Given the description of an element on the screen output the (x, y) to click on. 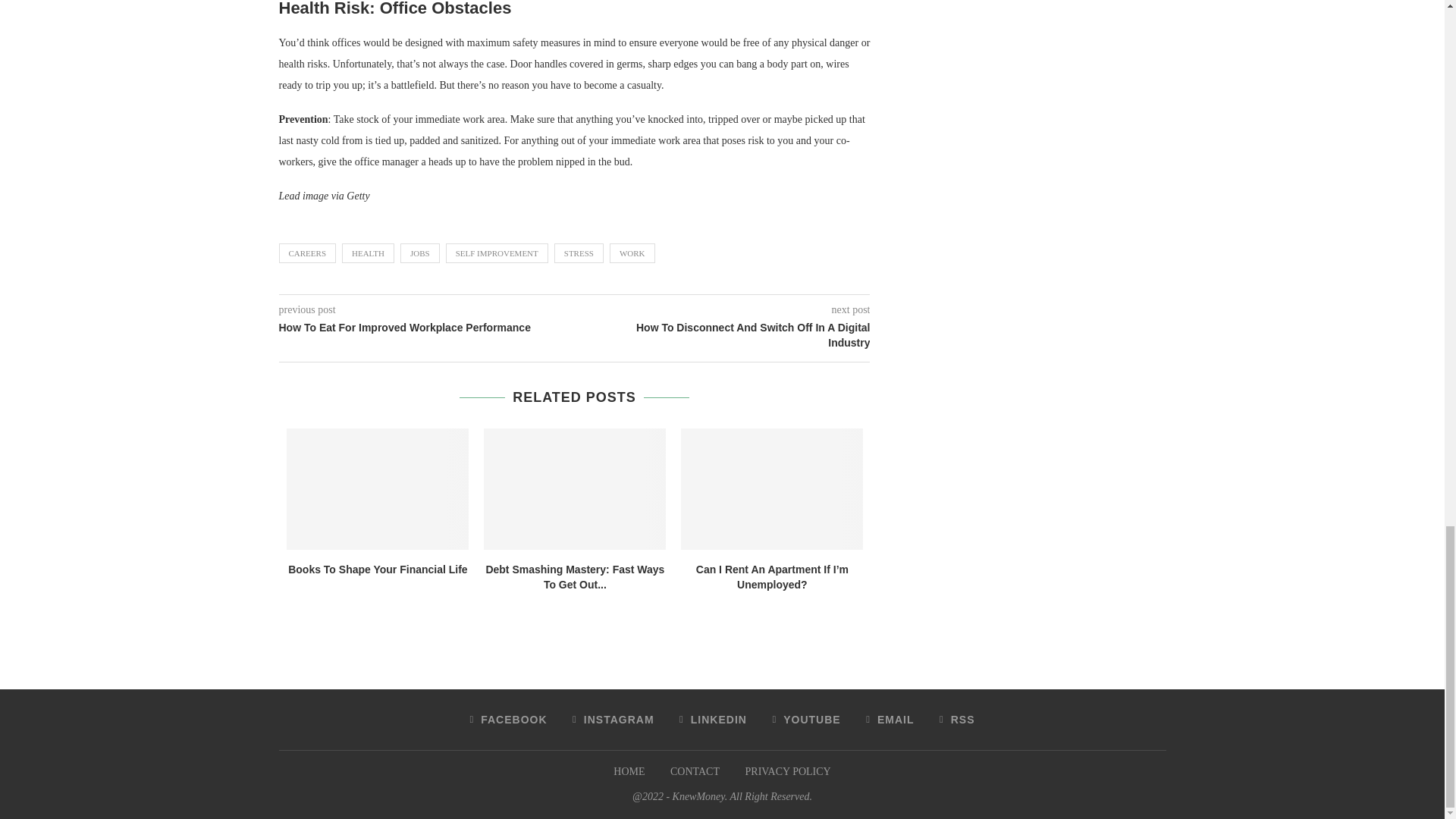
JOBS (419, 252)
Debt Smashing Mastery: Fast Ways To Get Out Of Debt (574, 488)
WORK (632, 252)
How To Disconnect And Switch Off In A Digital Industry (722, 335)
HEALTH (368, 252)
Books To Shape Your Financial Life (377, 488)
STRESS (579, 252)
CAREERS (307, 252)
How To Eat For Improved Workplace Performance (427, 328)
SELF IMPROVEMENT (496, 252)
